Given the description of an element on the screen output the (x, y) to click on. 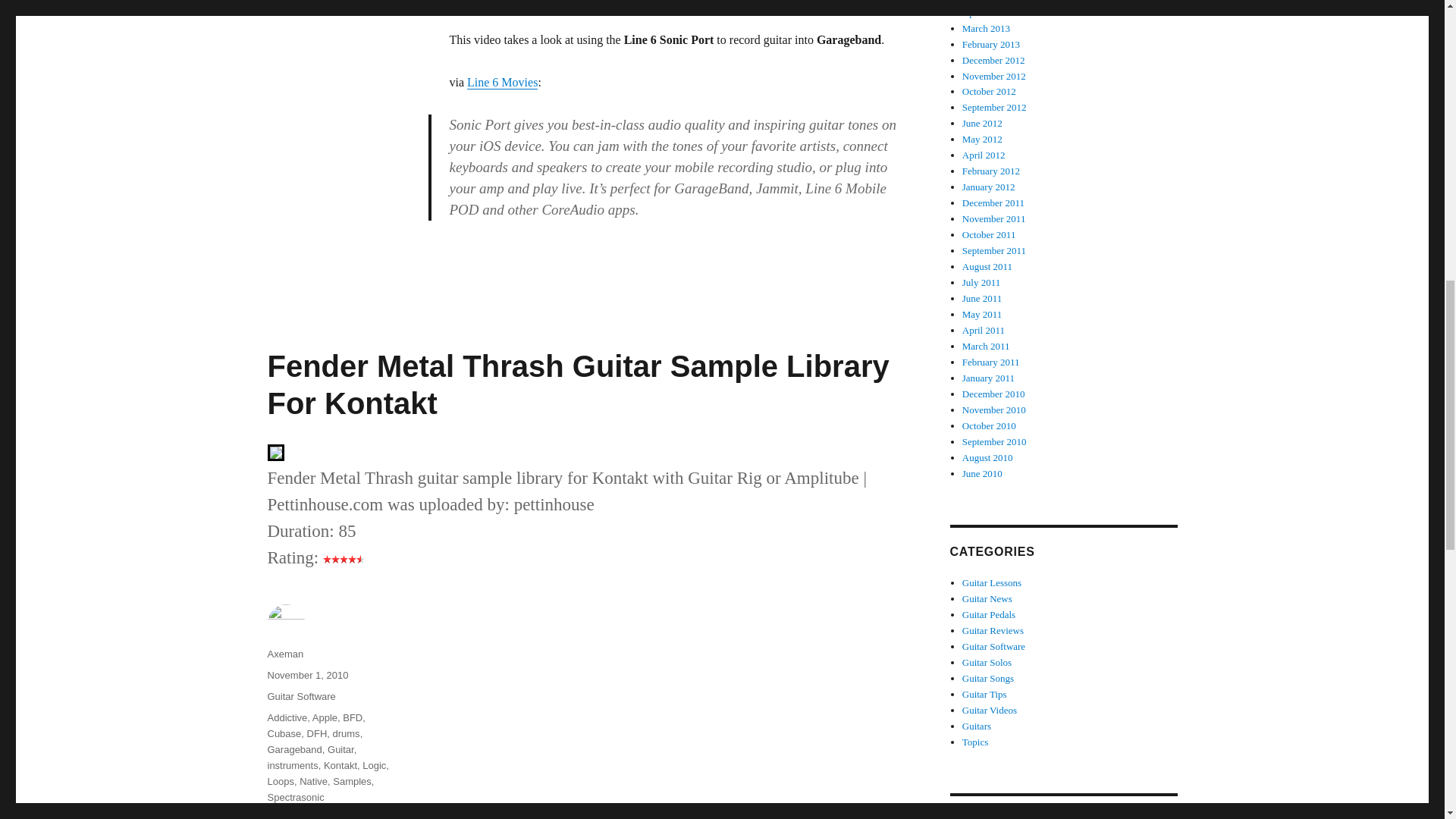
Garageband (293, 749)
Fender Metal Thrash Guitar Sample Library For Kontakt (577, 384)
Native (313, 781)
Line 6 Movies (502, 82)
Cubase (283, 733)
Apple (325, 717)
DFH (317, 733)
Samples (352, 781)
Loops (280, 781)
instruments (291, 765)
Spectrasonic (294, 797)
Axeman (284, 654)
Guitar (340, 749)
Logic (373, 765)
Addictive (286, 717)
